Given the description of an element on the screen output the (x, y) to click on. 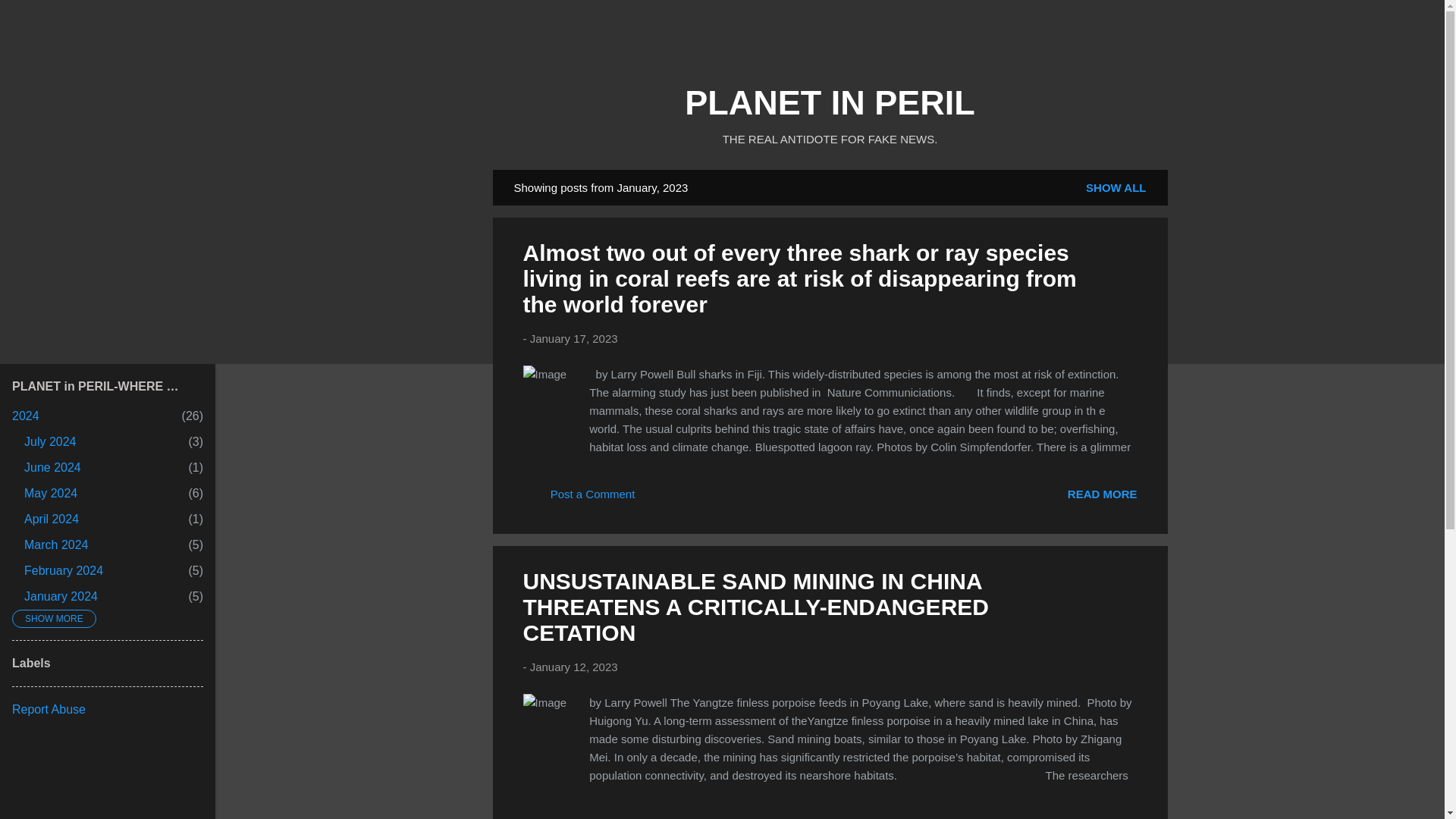
Email Post (658, 499)
READ MORE (52, 467)
SHOW ALL (63, 570)
Post a Comment (1102, 492)
permanent link (50, 492)
Search (1115, 187)
PLANET IN PERIL (578, 499)
